Given the description of an element on the screen output the (x, y) to click on. 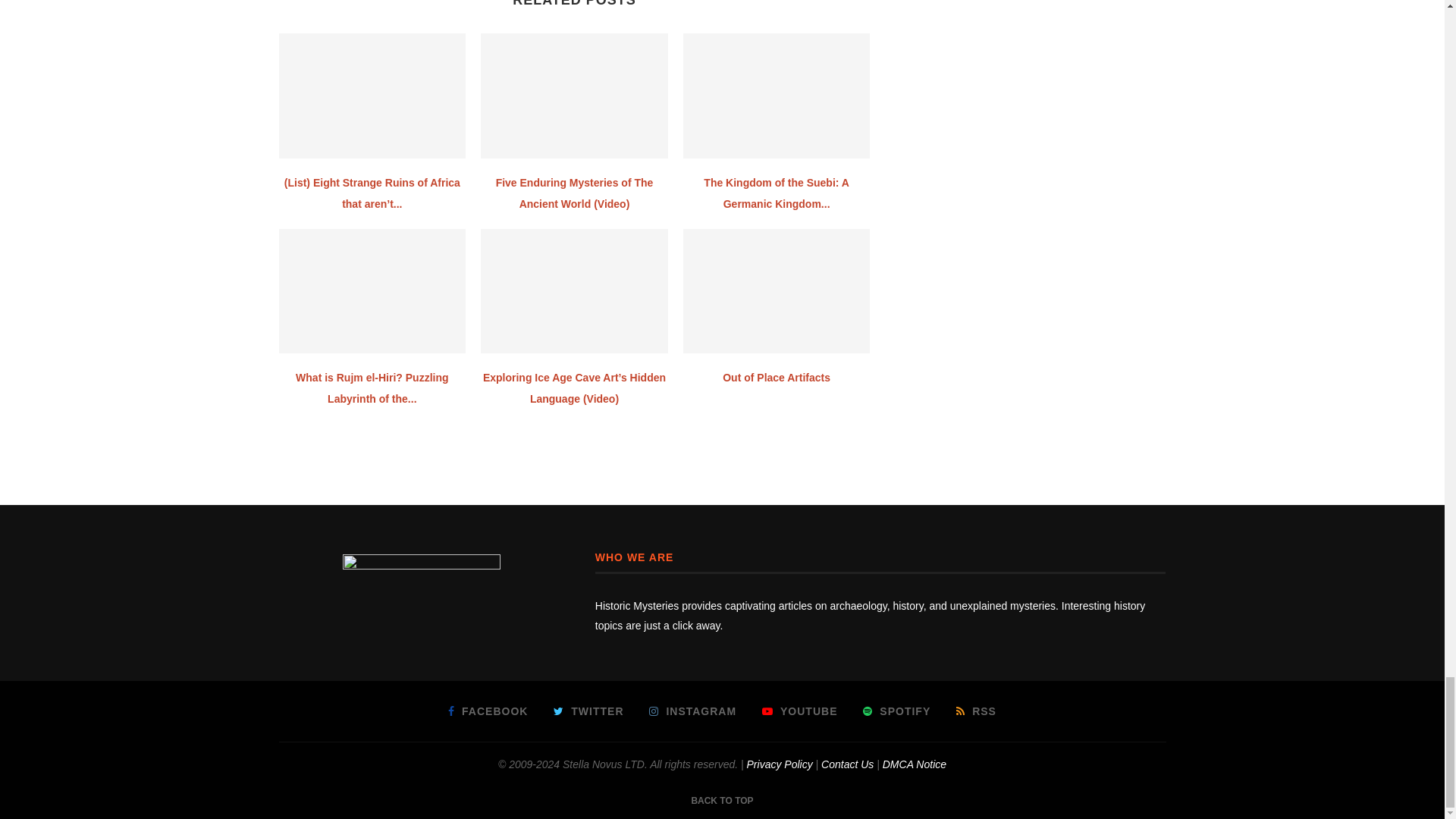
Out of Place Artifacts (776, 290)
The Kingdom of the Suebi: A Germanic Kingdom in Portugal? (776, 95)
